Given the description of an element on the screen output the (x, y) to click on. 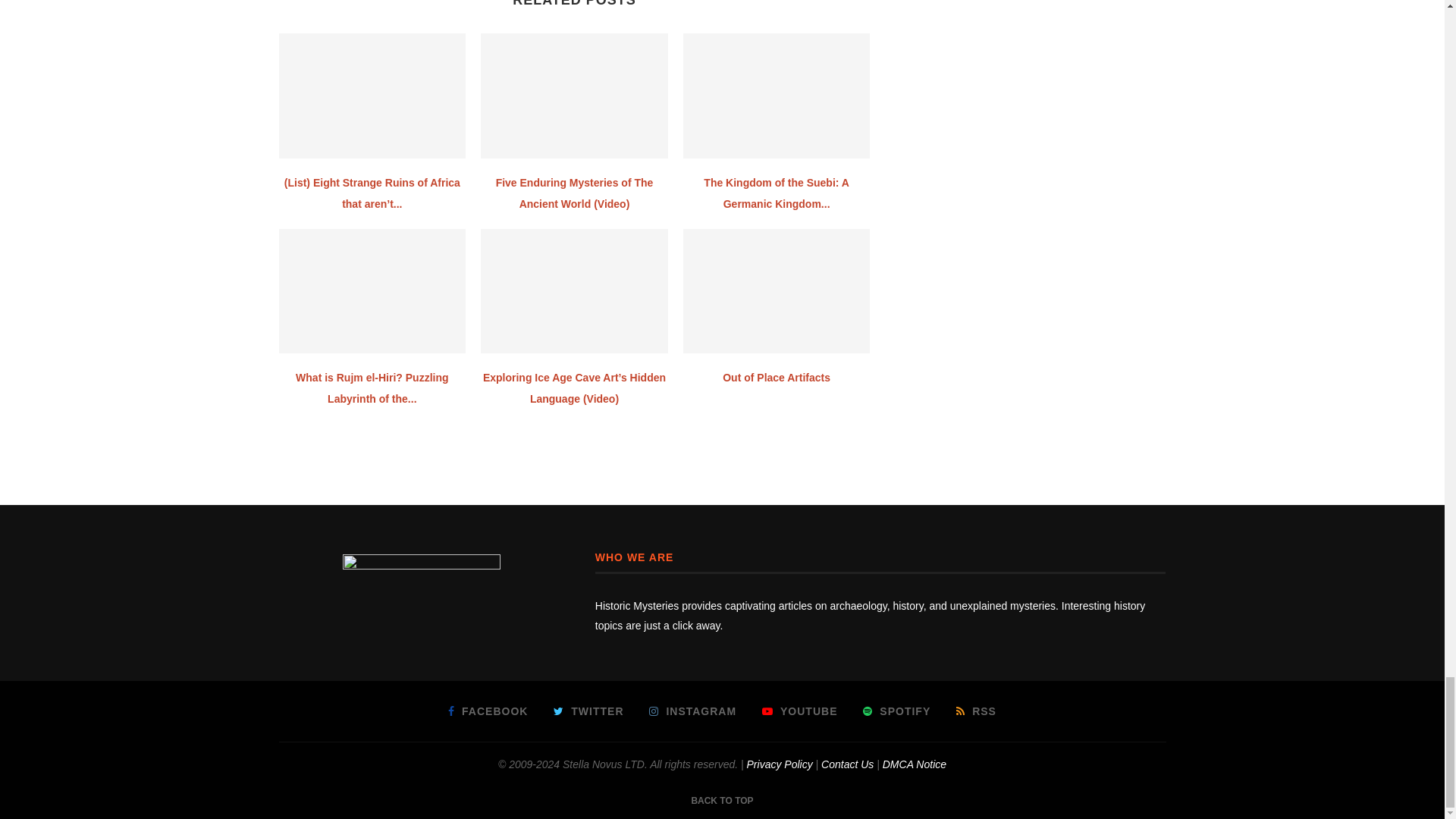
Out of Place Artifacts (776, 290)
The Kingdom of the Suebi: A Germanic Kingdom in Portugal? (776, 95)
